Given the description of an element on the screen output the (x, y) to click on. 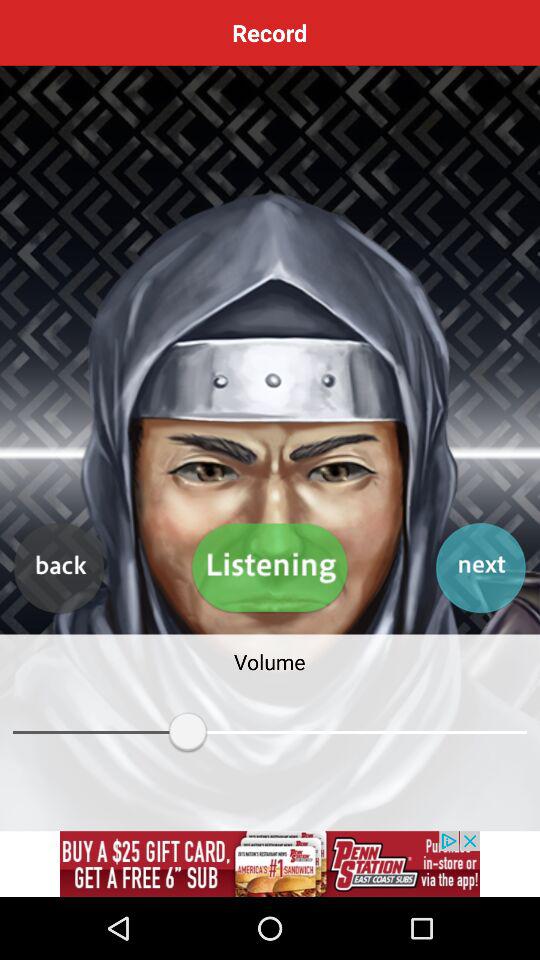
go to next (480, 568)
